Given the description of an element on the screen output the (x, y) to click on. 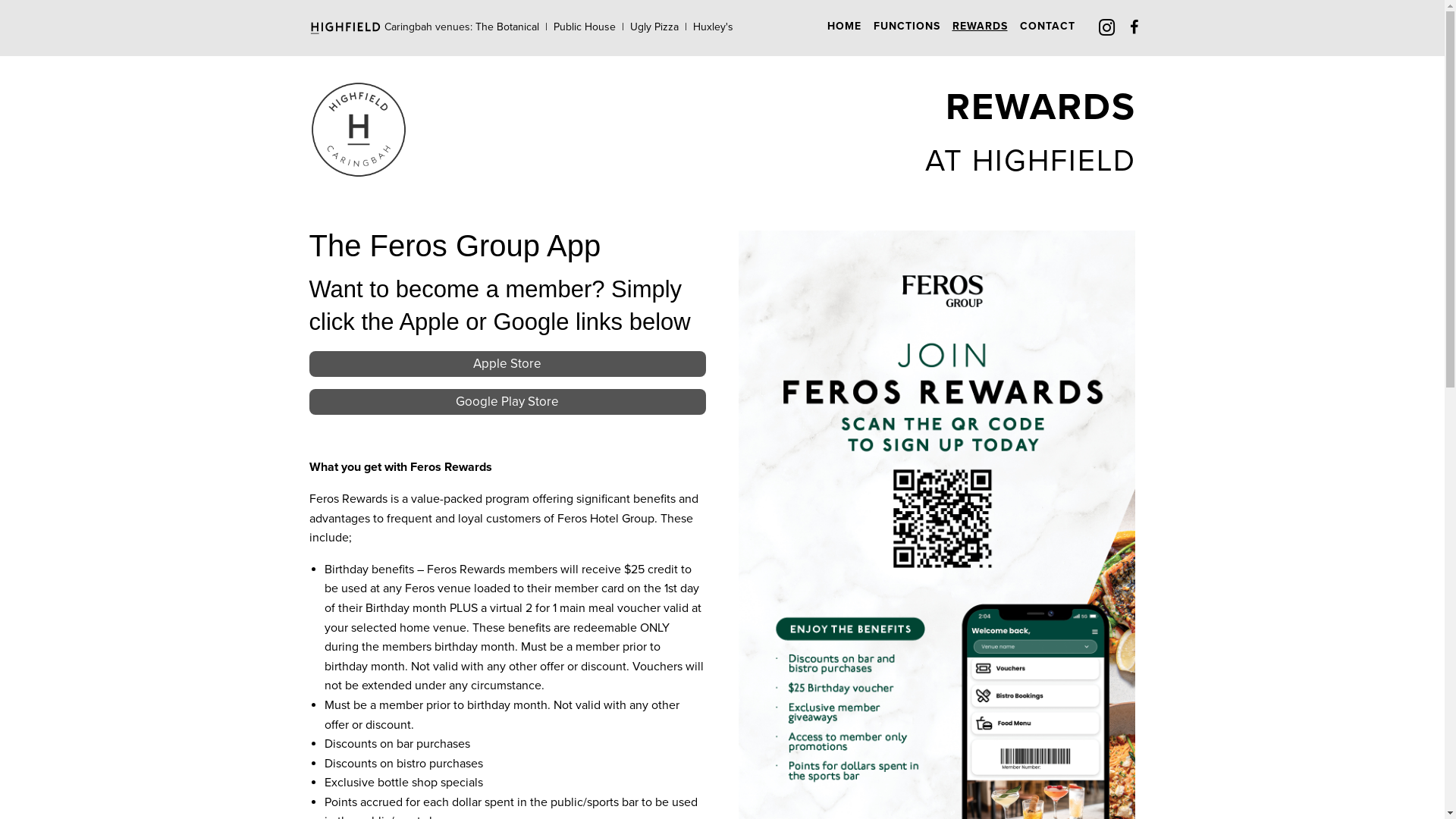
Apple Store Element type: text (507, 363)
Google Play Store Element type: text (507, 401)
CONTACT Element type: text (1046, 25)
Like us on Facebook Element type: hover (1135, 27)
The Botanical Element type: text (506, 26)
Ugly Pizza Element type: text (653, 26)
REWARDS Element type: text (979, 25)
Follow us on Instagram Element type: hover (1107, 30)
Public House Element type: text (584, 26)
HOME Element type: text (843, 25)
FUNCTIONS Element type: text (906, 25)
Huxley's Element type: text (713, 26)
